Given the description of an element on the screen output the (x, y) to click on. 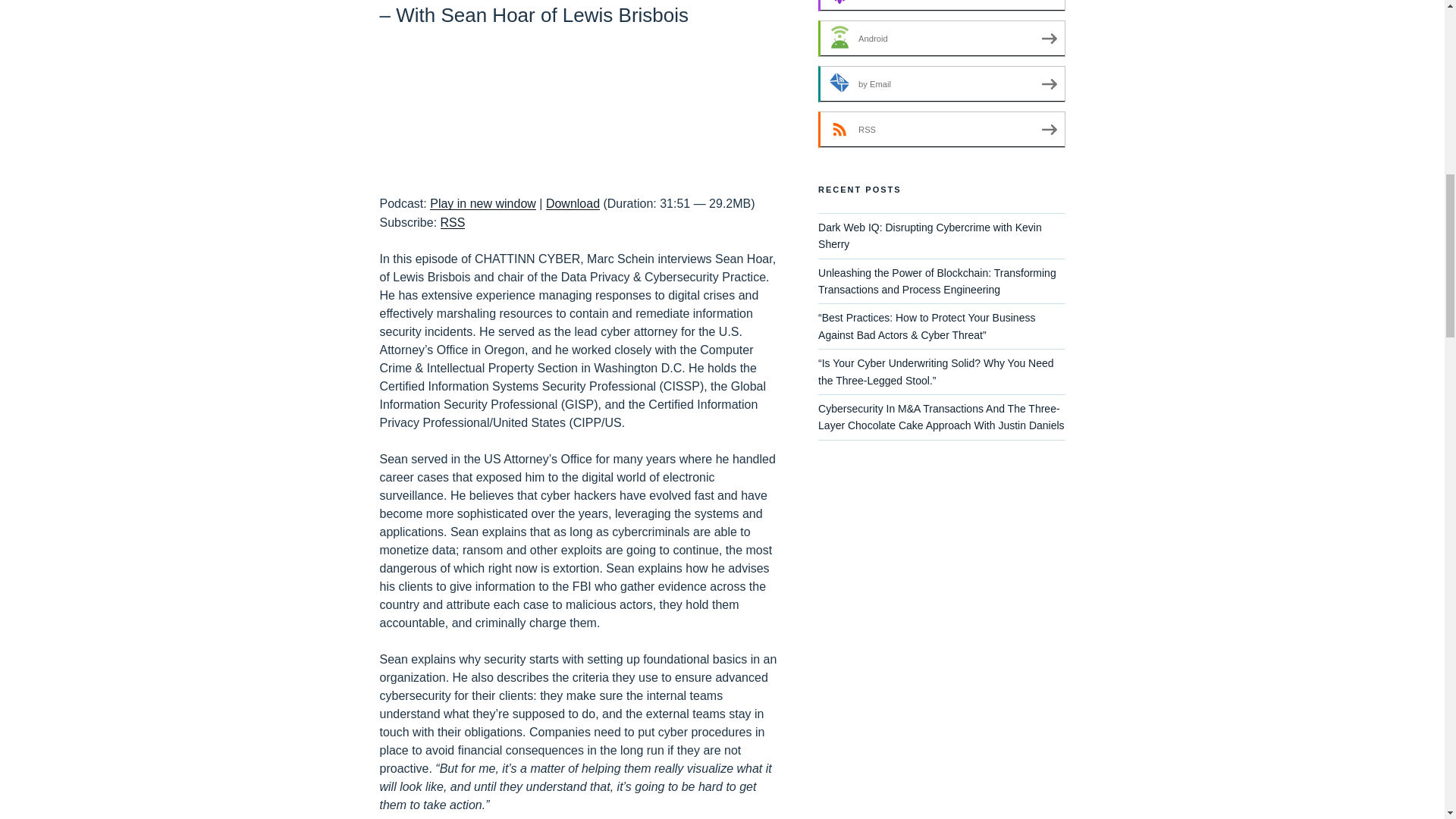
Blubrry Podcast Player (577, 108)
by Email (941, 84)
Android (941, 38)
Download (572, 203)
Subscribe on Apple Podcasts (941, 5)
Play in new window (482, 203)
Download (572, 203)
Apple Podcasts (941, 5)
Subscribe on Android (941, 38)
Subscribe via RSS (453, 222)
Subscribe by Email (941, 84)
RSS (453, 222)
Play in new window (482, 203)
Subscribe via RSS (941, 129)
